Given the description of an element on the screen output the (x, y) to click on. 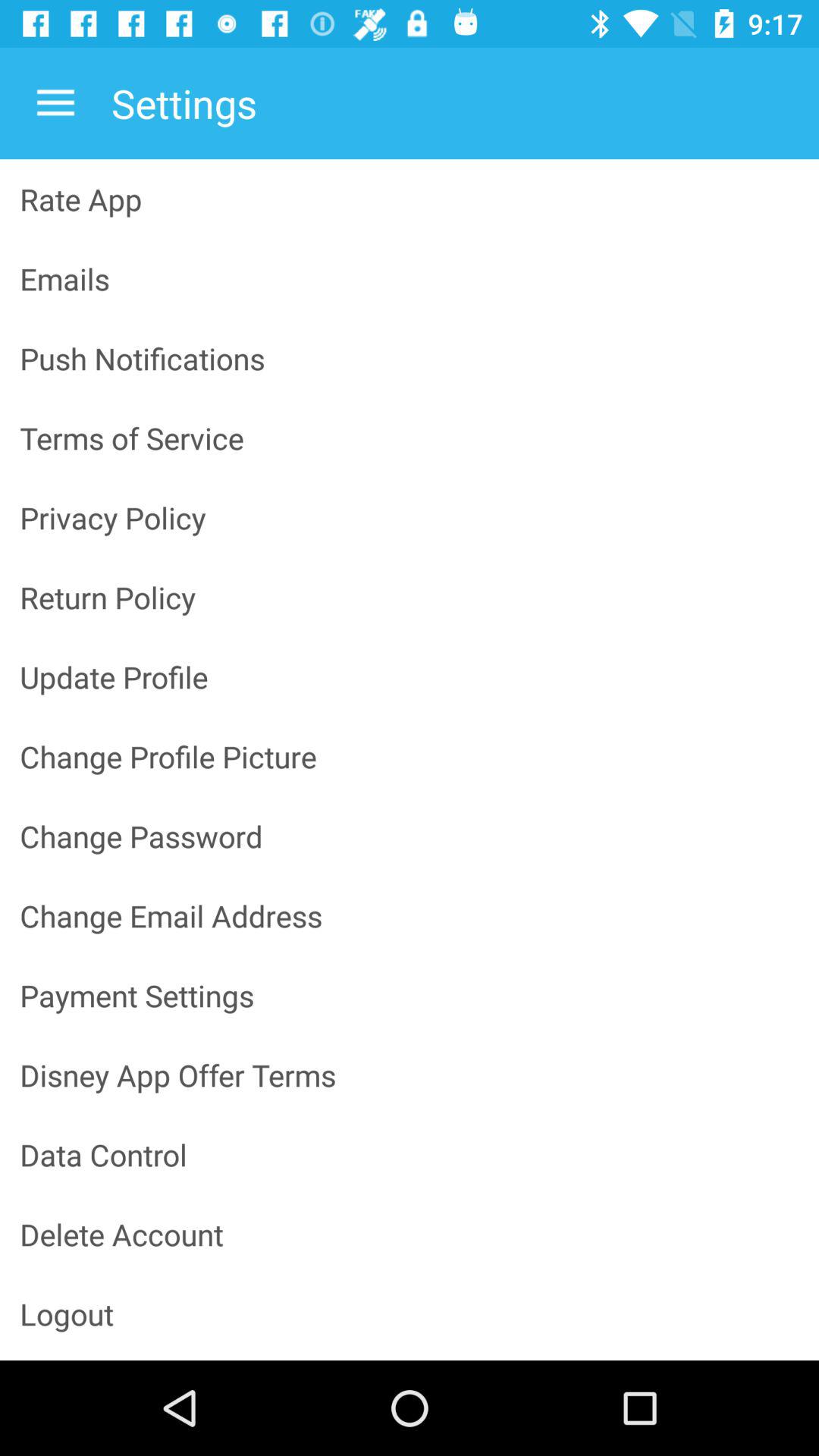
press the data control icon (409, 1154)
